Given the description of an element on the screen output the (x, y) to click on. 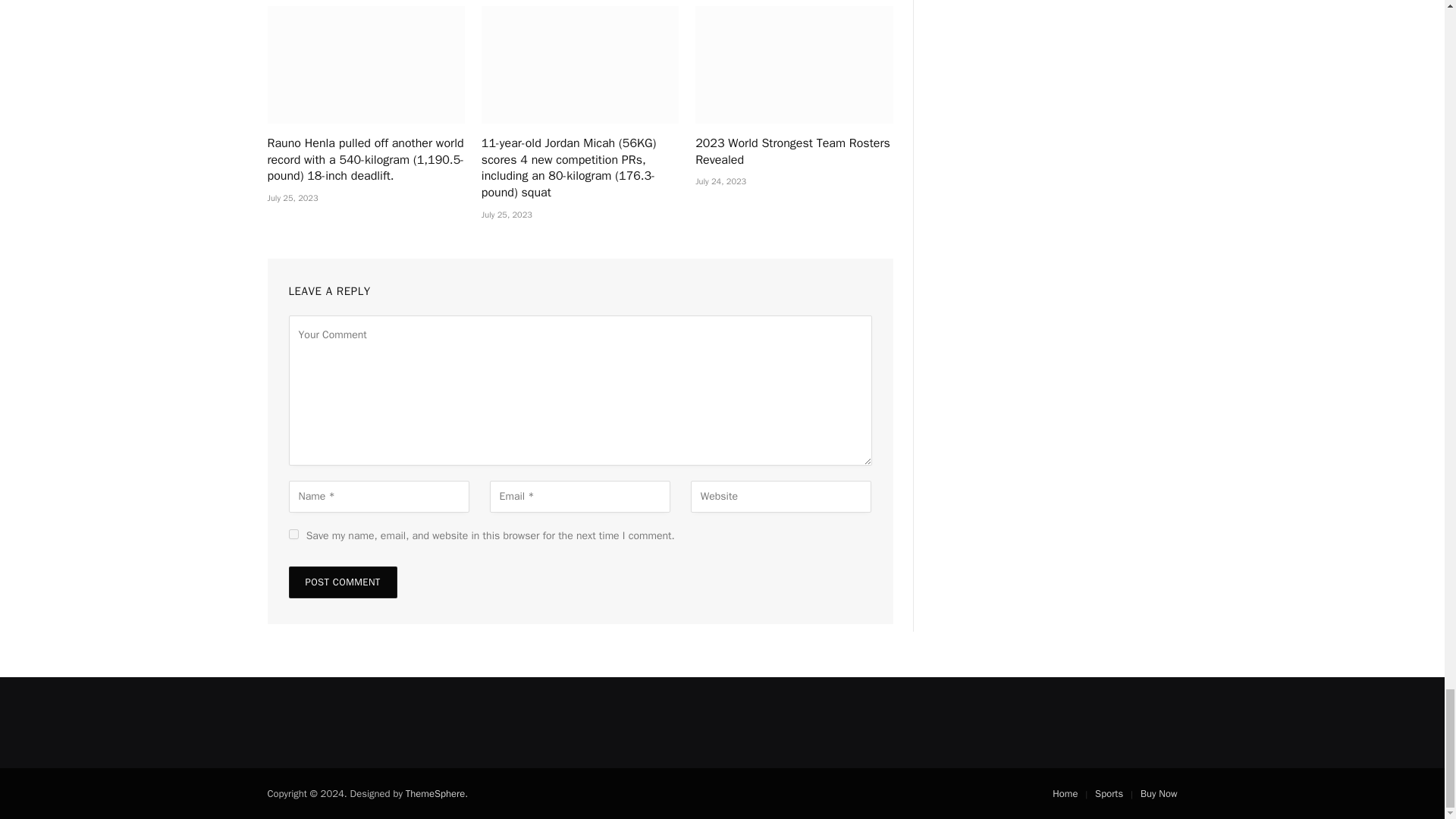
2023 World Strongest Team Rosters Revealed (793, 151)
yes (293, 533)
2023 World Strongest Team Rosters Revealed (793, 64)
Post Comment (342, 582)
